Given the description of an element on the screen output the (x, y) to click on. 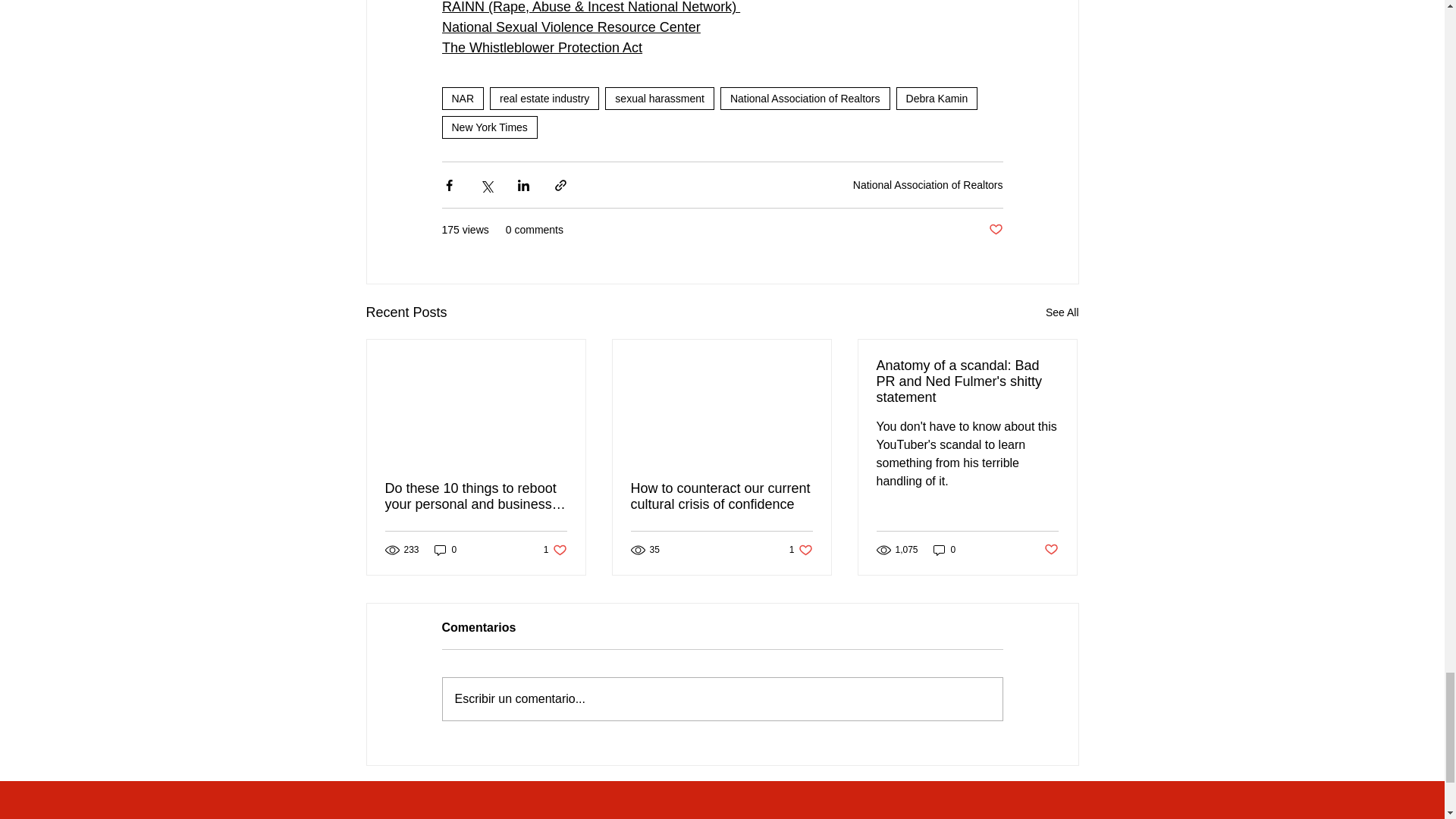
National Sexual Violence Resource Center (570, 27)
